Given the description of an element on the screen output the (x, y) to click on. 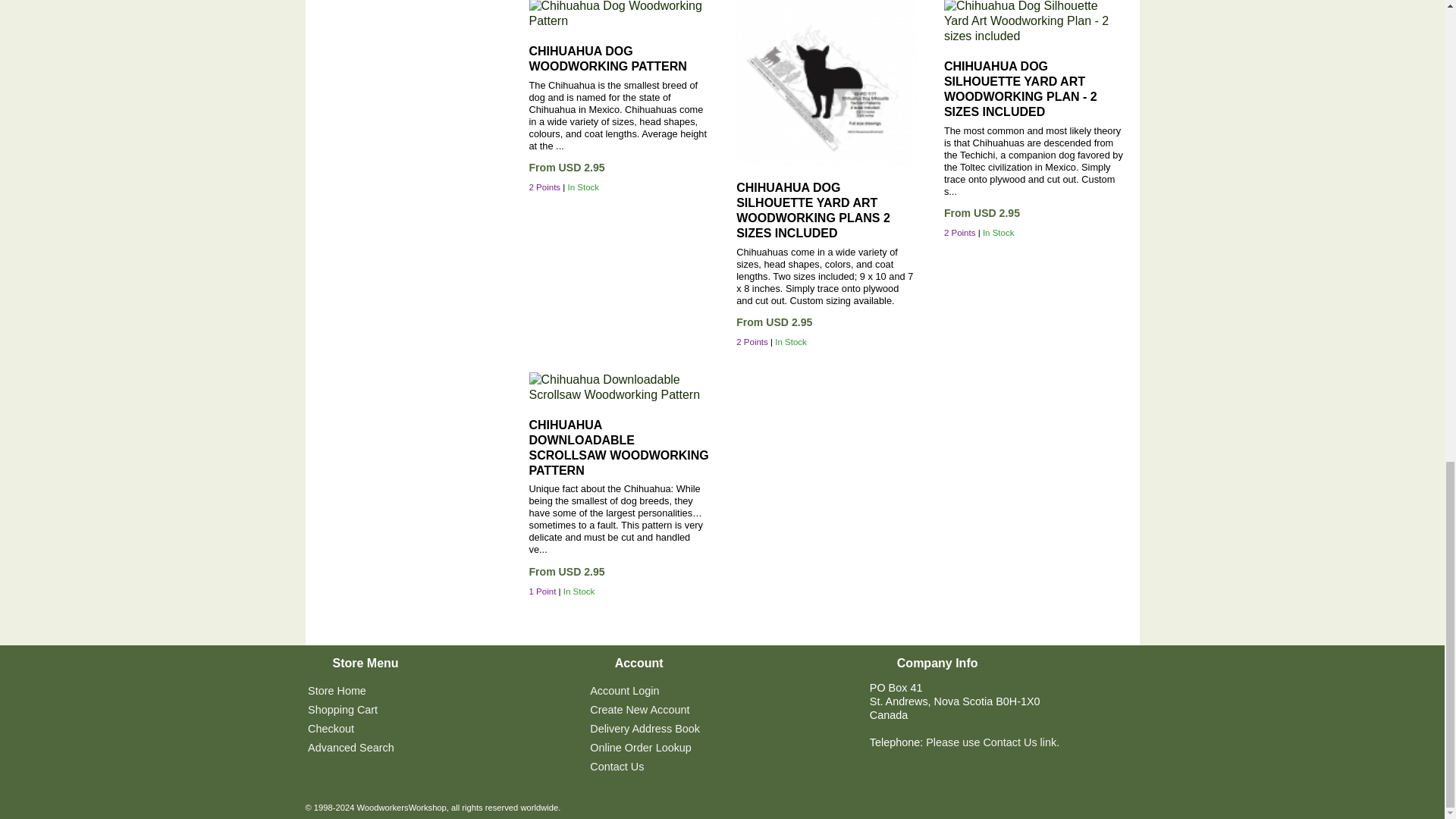
Chihuahua Downloadable Scrollsaw Woodworking Pattern (619, 387)
Chihuahua Dog Woodworking Pattern (608, 58)
Chihuahua Downloadable Scrollsaw Woodworking Pattern (619, 447)
Chihuahua Dog Woodworking Pattern (619, 14)
CHIHUAHUA DOWNLOADABLE SCROLLSAW WOODWORKING PATTERN (619, 447)
